Given the description of an element on the screen output the (x, y) to click on. 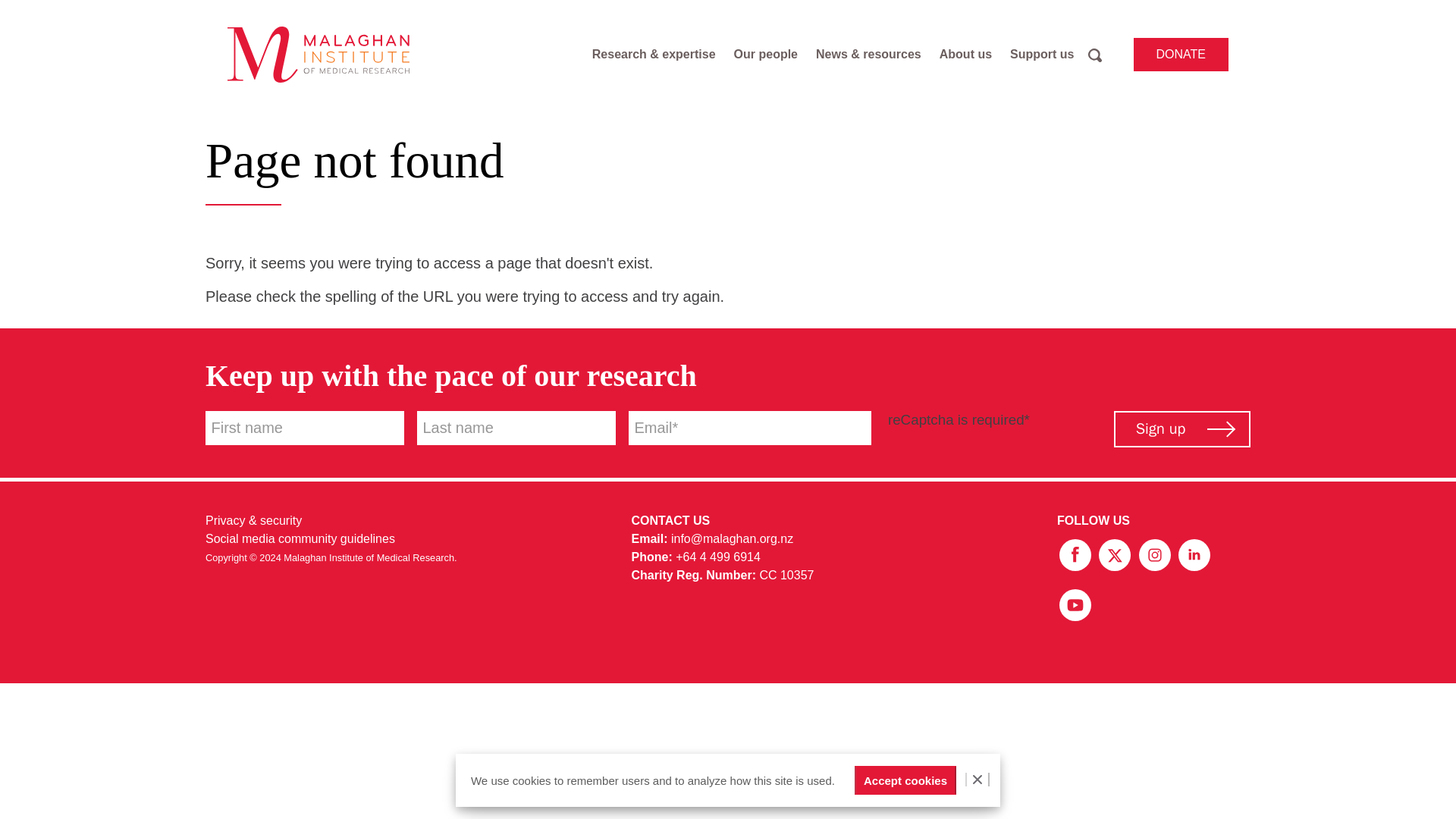
X (1115, 553)
Our people (765, 54)
Facebook (1076, 553)
Instagram (1156, 553)
LinkedIn (1194, 553)
YouTube (1075, 603)
Accept cookies (905, 779)
